Given the description of an element on the screen output the (x, y) to click on. 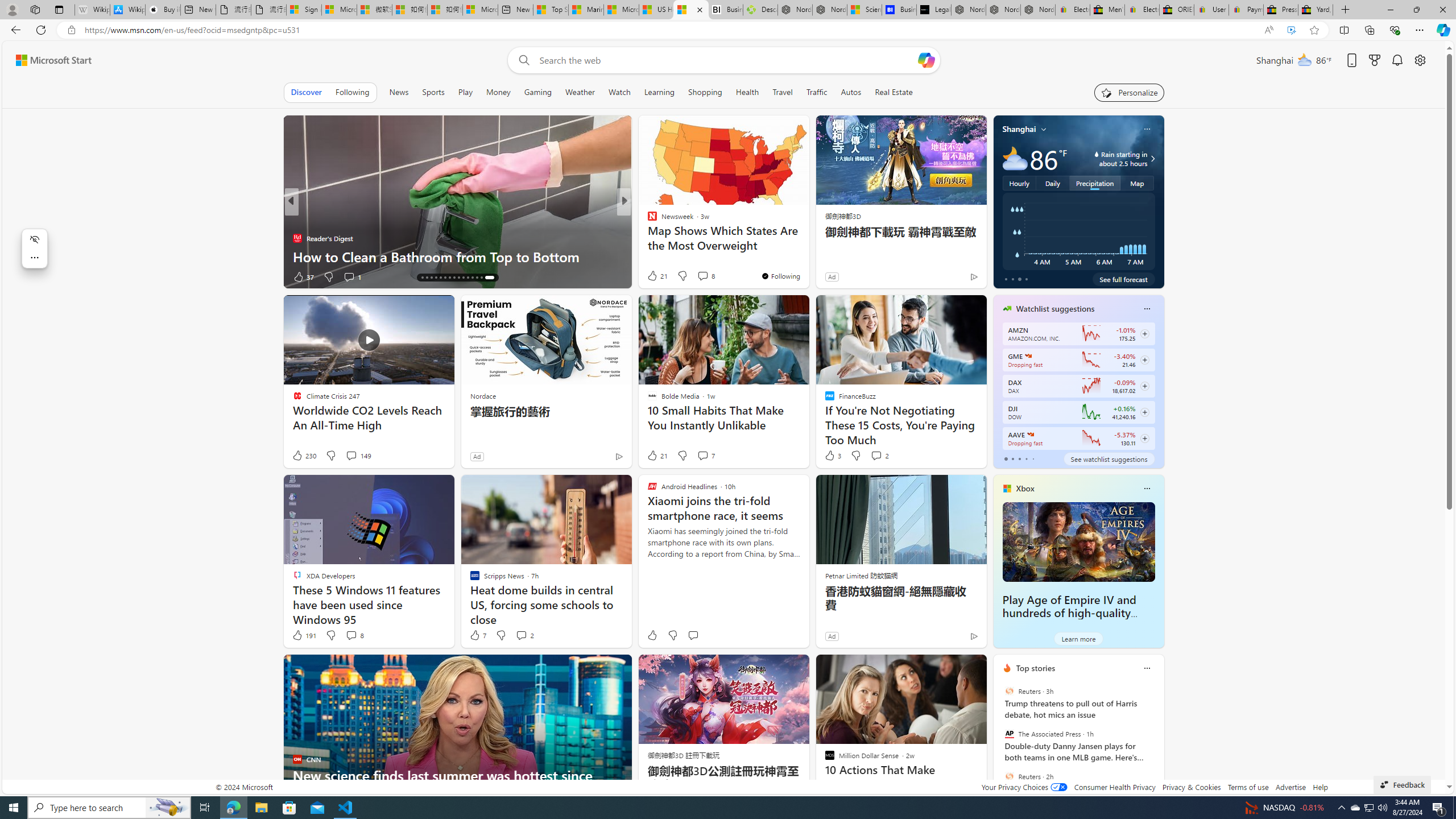
tab-4 (1032, 458)
User Privacy Notice | eBay (1211, 9)
View comments 265 Comment (709, 276)
15 Like (652, 276)
230 Like (303, 455)
Bolde Media (647, 219)
See full forecast (1123, 278)
Record number of Americans killed by heat in 2023: Research (457, 247)
Rain starting in about 2.5 hours (1150, 158)
Personalize your feed" (1129, 92)
Enter your search term (726, 59)
14 Funny Ways People Try to Save Money (807, 256)
